Given the description of an element on the screen output the (x, y) to click on. 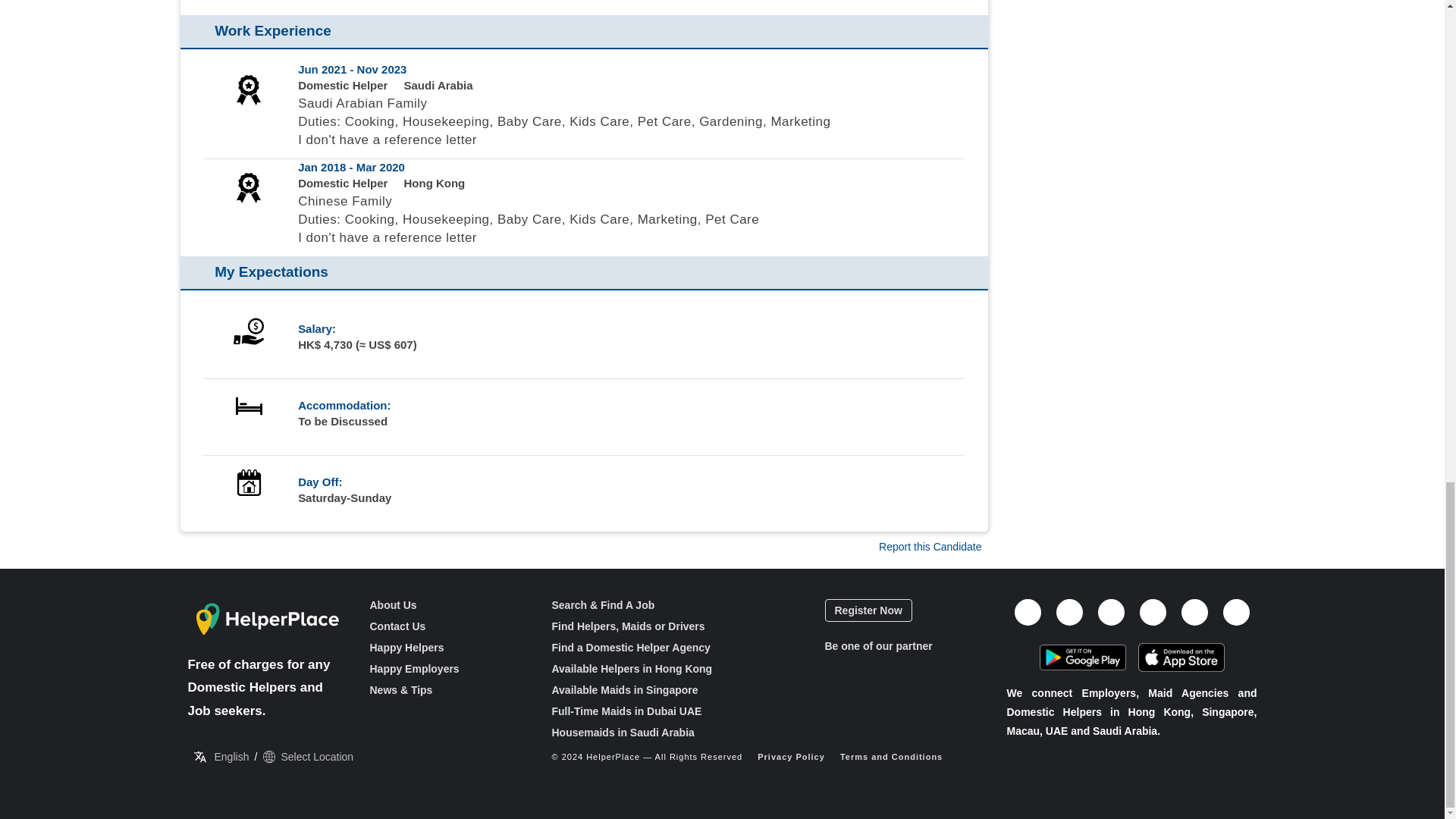
Available Helpers in Hong Kong (632, 668)
Happy Employers (414, 668)
Contact Us (397, 625)
Contact (342, 625)
Happy Helpers (406, 647)
About Us (392, 604)
Find a Domestic Helper Agency (630, 647)
Find Helpers, Maids or Drivers (627, 625)
